Given the description of an element on the screen output the (x, y) to click on. 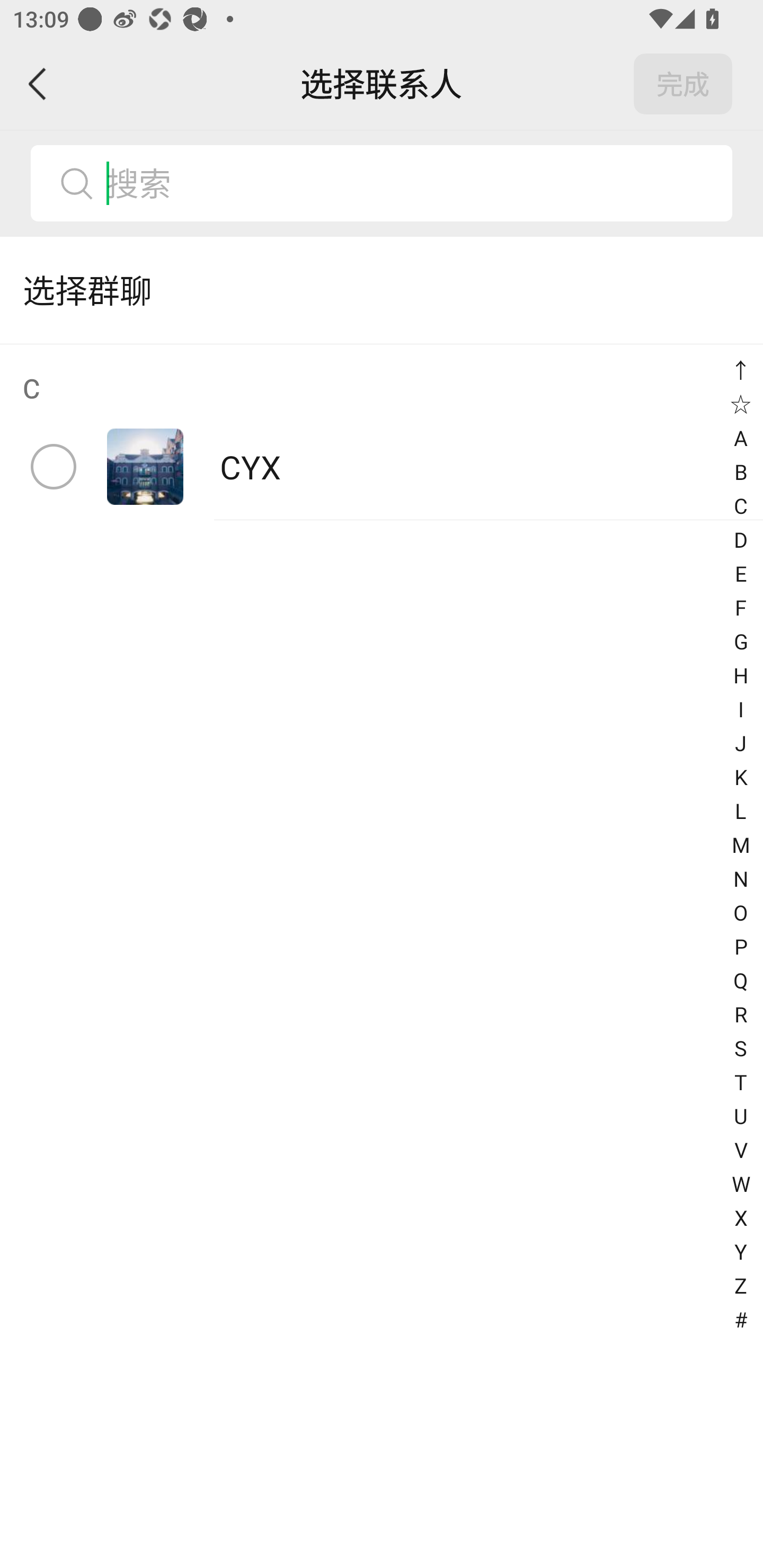
返回 (38, 83)
完成 (683, 83)
搜索 (381, 183)
搜索 (411, 183)
选择群聊 (381, 290)
C CYX (381, 432)
